Given the description of an element on the screen output the (x, y) to click on. 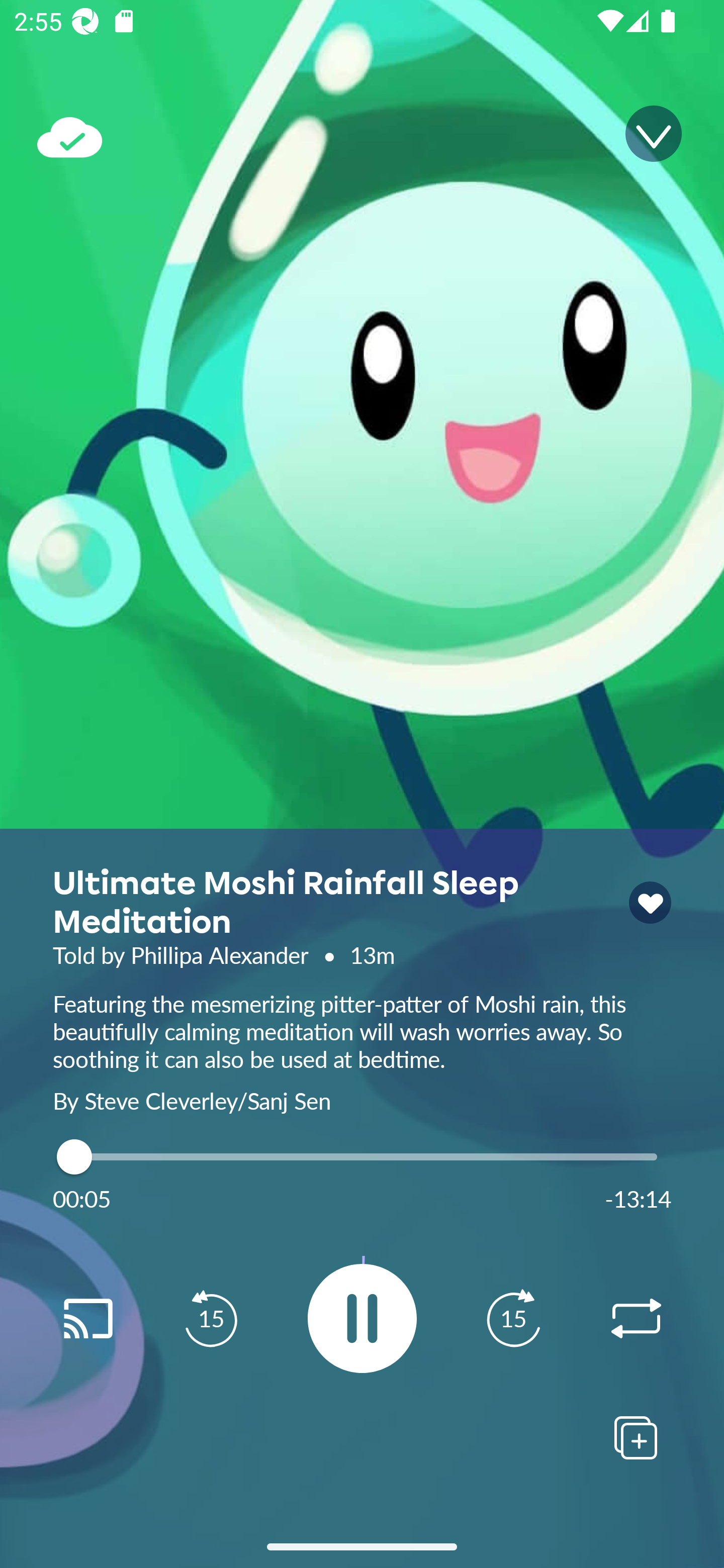
lock icon (650, 902)
0.00661125 Pause (361, 1317)
Replay (87, 1318)
Replay 15 (210, 1318)
Replay 15 (513, 1318)
Replay (635, 1318)
Add To Playlists (635, 1437)
